Given the description of an element on the screen output the (x, y) to click on. 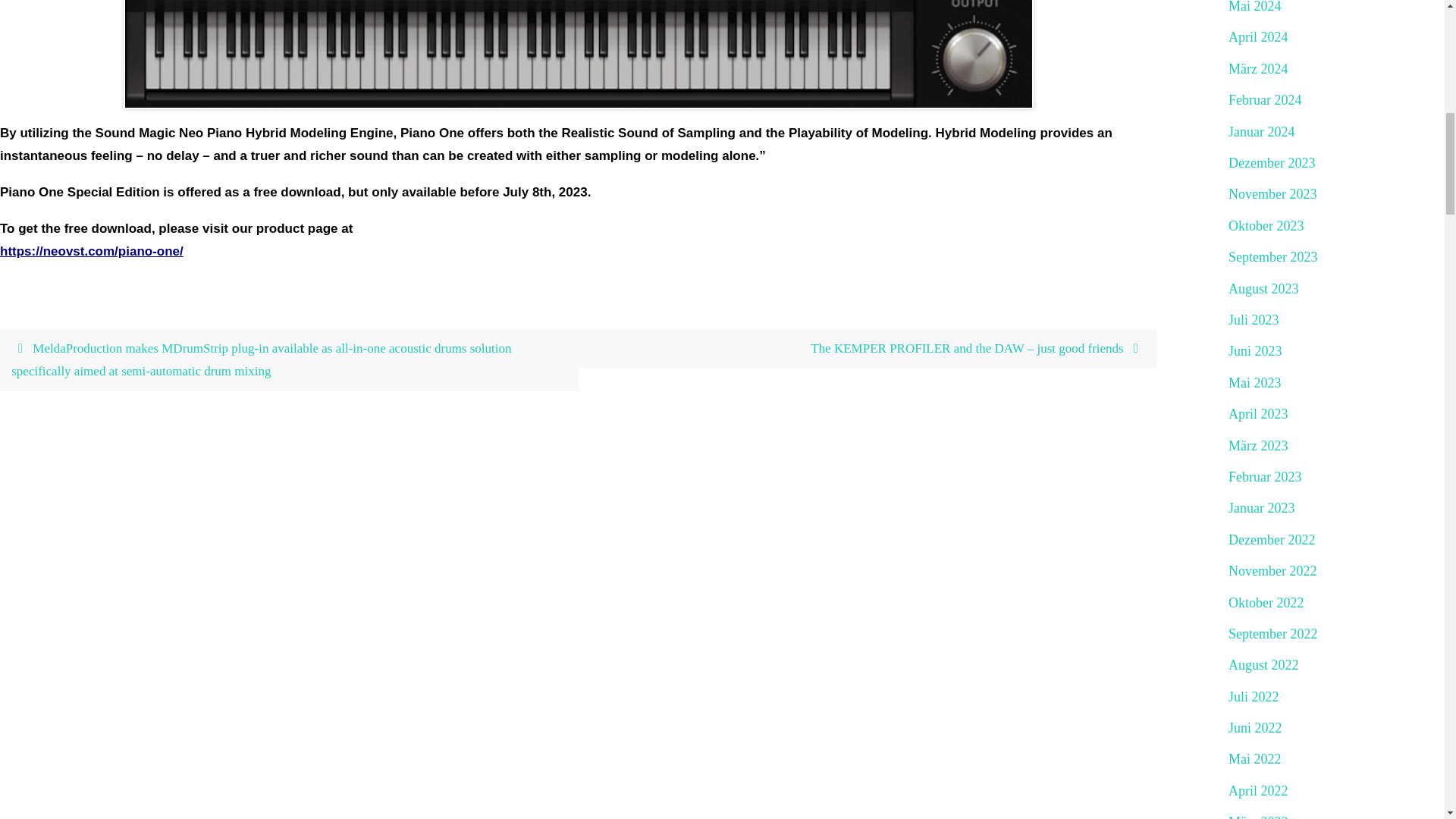
Dezember 2023 (1271, 163)
April 2024 (1258, 37)
Mai 2024 (1254, 7)
Januar 2024 (1261, 132)
Februar 2024 (1264, 100)
